Given the description of an element on the screen output the (x, y) to click on. 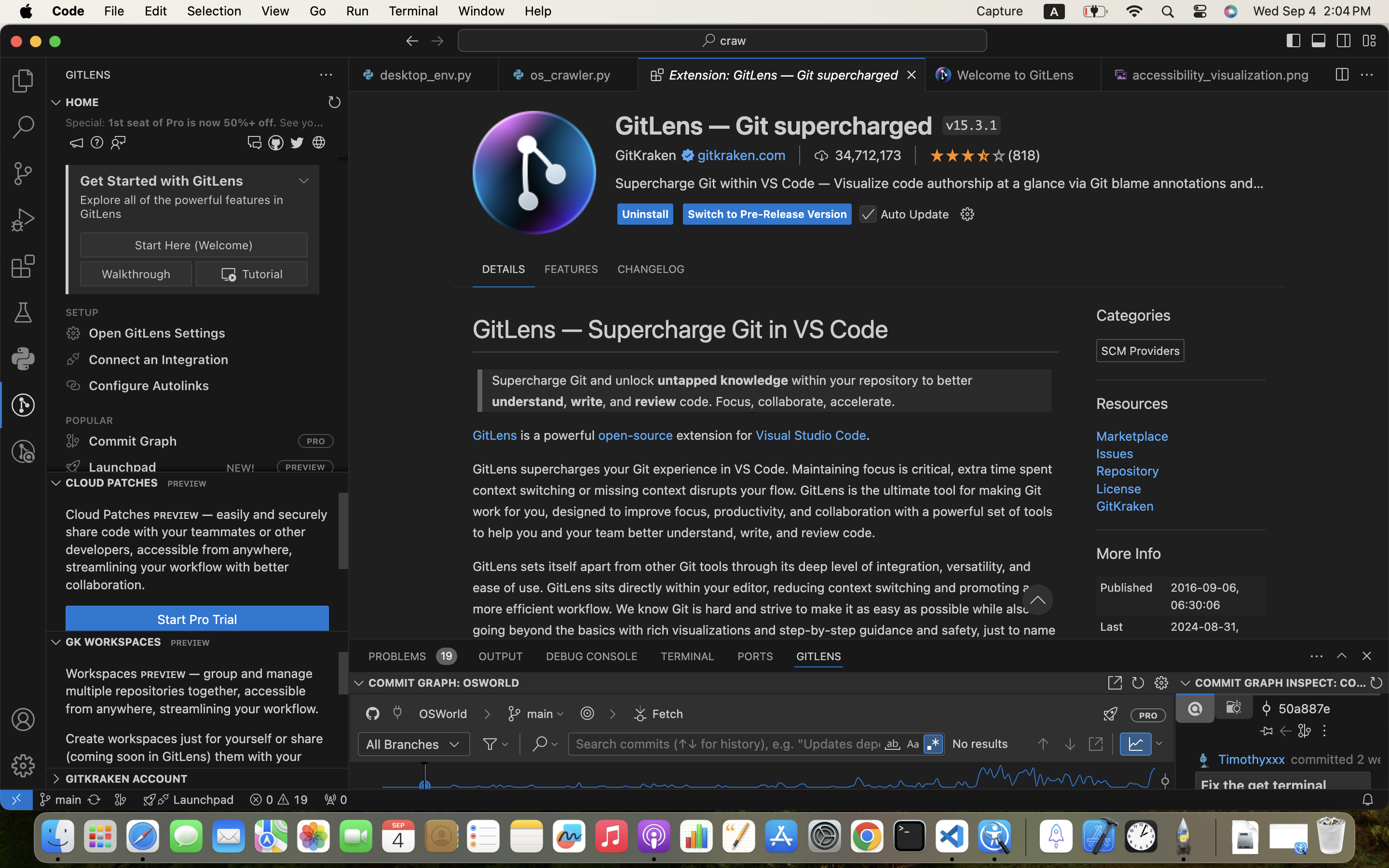
 Element type: AXStaticText (614, 459)
 Element type: AXStaticText (876, 545)
Auto Update Element type: AXStaticText (914, 214)
Fix the get terminal output error caused by namespace parameter changes Timothyxxx committed 50a887e 2 weeks ago        Element type: AXGroup (1282, 740)
All Branches Element type: AXComboBox (402, 743)
